Given the description of an element on the screen output the (x, y) to click on. 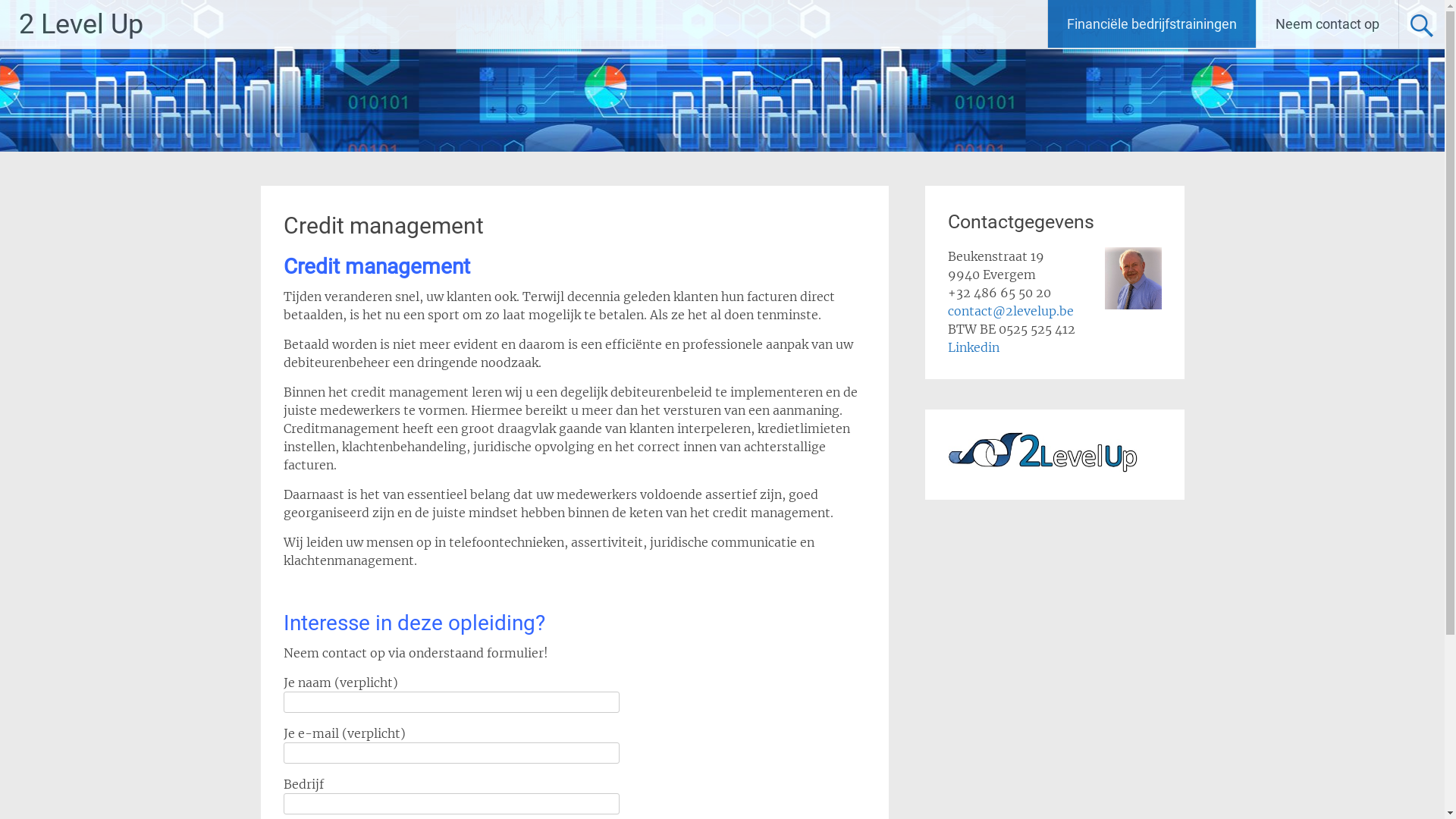
Linkedin Element type: text (973, 346)
Naar de inhoud springen Element type: text (1131, 9)
contact@2levelup.be Element type: text (1010, 310)
2 Level Up Element type: text (80, 24)
Neem contact op Element type: text (1327, 23)
